Given the description of an element on the screen output the (x, y) to click on. 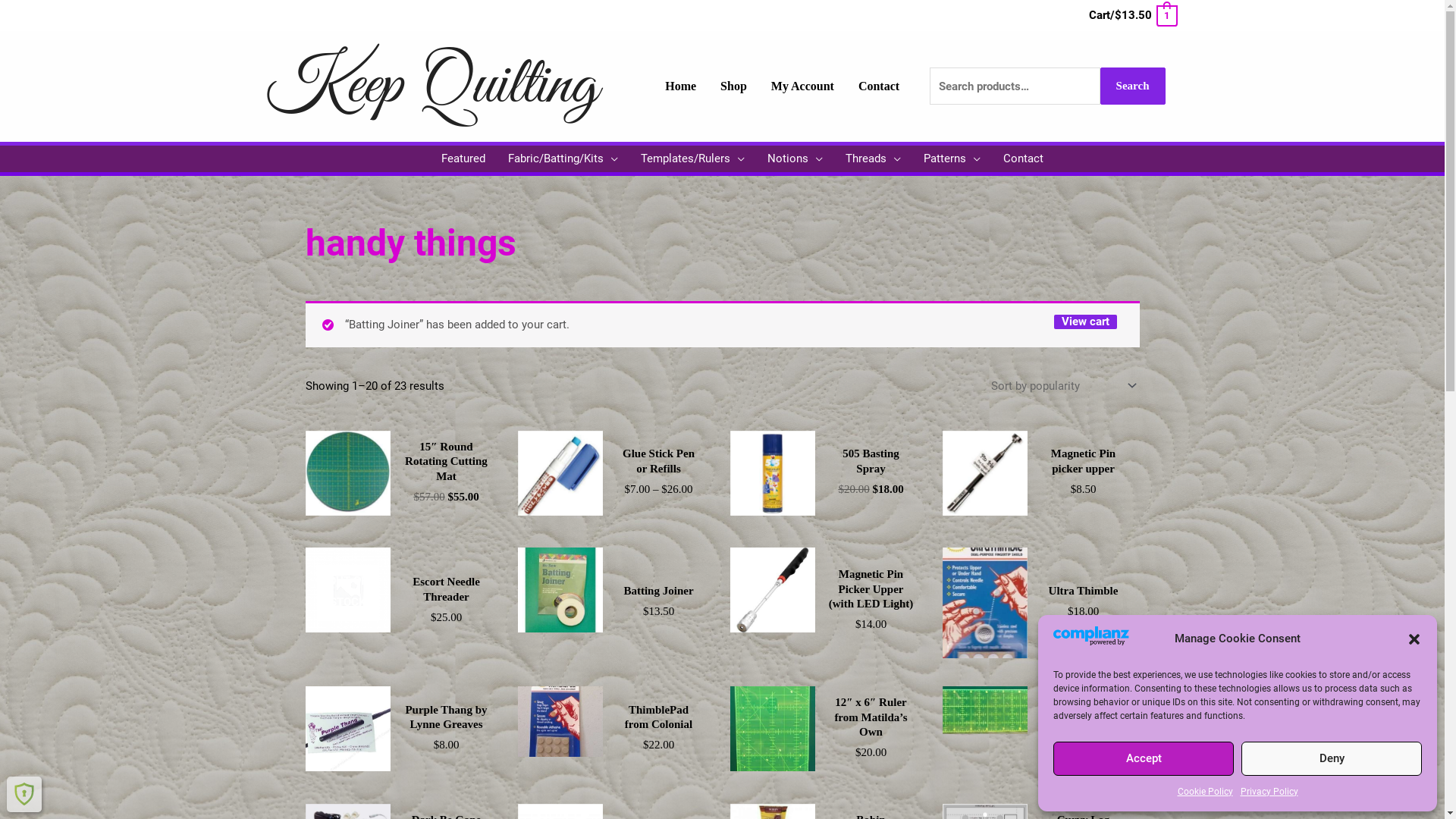
OUT OF STOCK Element type: text (346, 589)
Notions Element type: text (795, 158)
Contact Element type: text (878, 85)
Search Element type: text (1132, 86)
Glue Stick Pen or Refills Element type: text (657, 464)
505 Basting Spray Element type: text (870, 464)
Featured Element type: text (462, 158)
Threads Element type: text (873, 158)
Ultra Thimble Element type: text (1083, 593)
Magnetic Pin picker upper Element type: text (1082, 464)
Contact Element type: text (1022, 158)
Fabric/Batting/Kits Element type: text (562, 158)
Cookie Policy Element type: text (1204, 791)
Patterns Element type: text (951, 158)
Keep Quilting Element type: text (431, 85)
Escort Needle Threader Element type: text (445, 592)
Templates/Rulers Element type: text (692, 158)
Magnetic Pin Picker Upper (with LED Light) Element type: text (870, 592)
View cart Element type: text (1085, 321)
Deny Element type: text (1331, 758)
Accept Element type: text (1143, 758)
Shield Security Element type: hover (24, 793)
Privacy Policy Element type: text (1269, 791)
Batting Joiner Element type: text (658, 593)
Purple Thang by Lynne Greaves Element type: text (445, 720)
Shop Element type: text (733, 85)
Cart/$13.50 1 Element type: text (1131, 14)
My Account Element type: text (802, 85)
Home Element type: text (680, 85)
ThimblePad from Colonial Element type: text (657, 720)
